Given the description of an element on the screen output the (x, y) to click on. 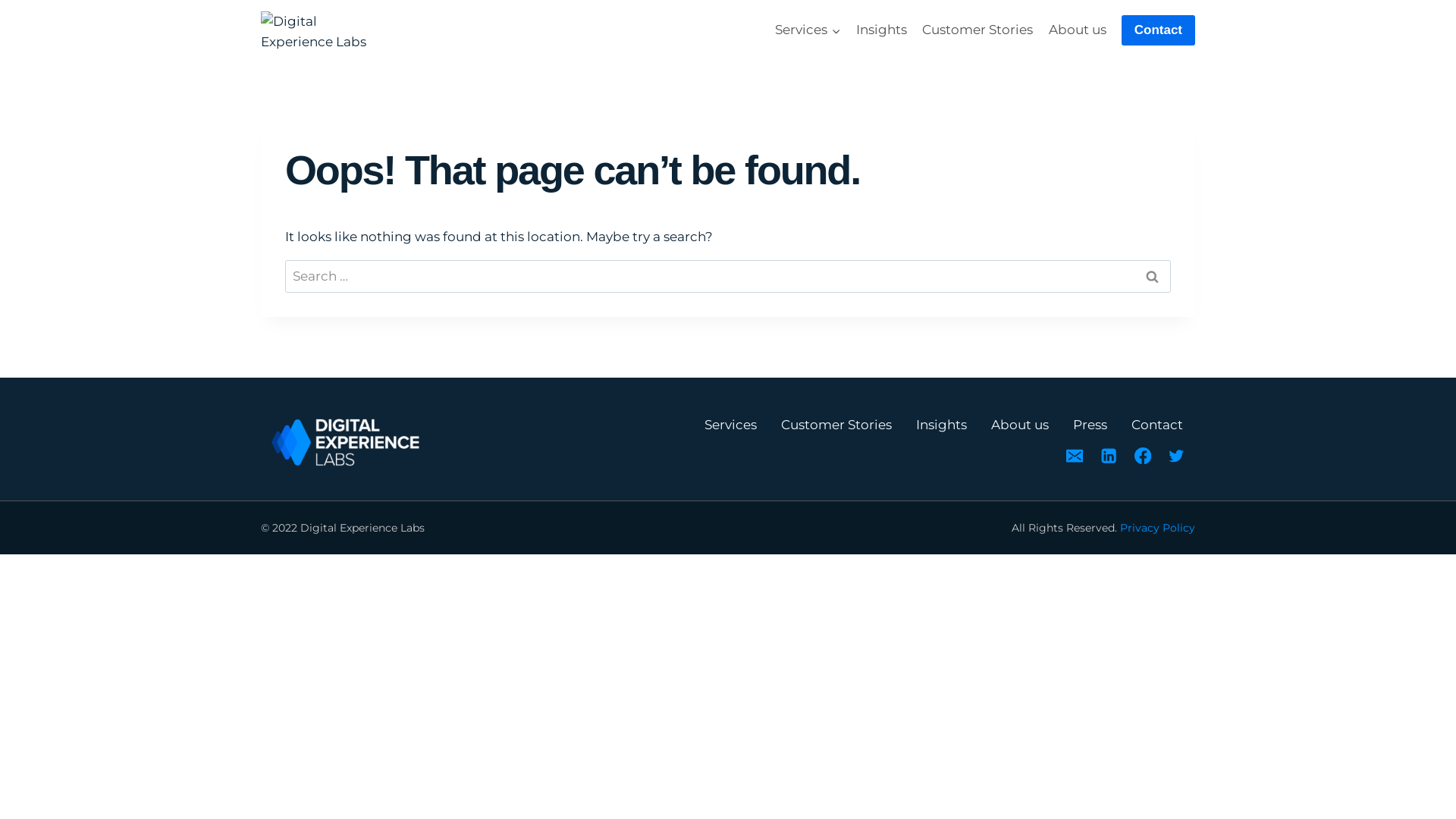
Customer Stories Element type: text (835, 424)
Contact Element type: text (1158, 30)
About us Element type: text (1019, 424)
Services Element type: text (807, 30)
Services Element type: text (730, 424)
Customer Stories Element type: text (977, 30)
Privacy Policy Element type: text (1157, 527)
About us Element type: text (1076, 30)
Press Element type: text (1089, 424)
Search Element type: text (1151, 276)
Contact Element type: text (1157, 424)
Insights Element type: text (941, 424)
Insights Element type: text (881, 30)
